Given the description of an element on the screen output the (x, y) to click on. 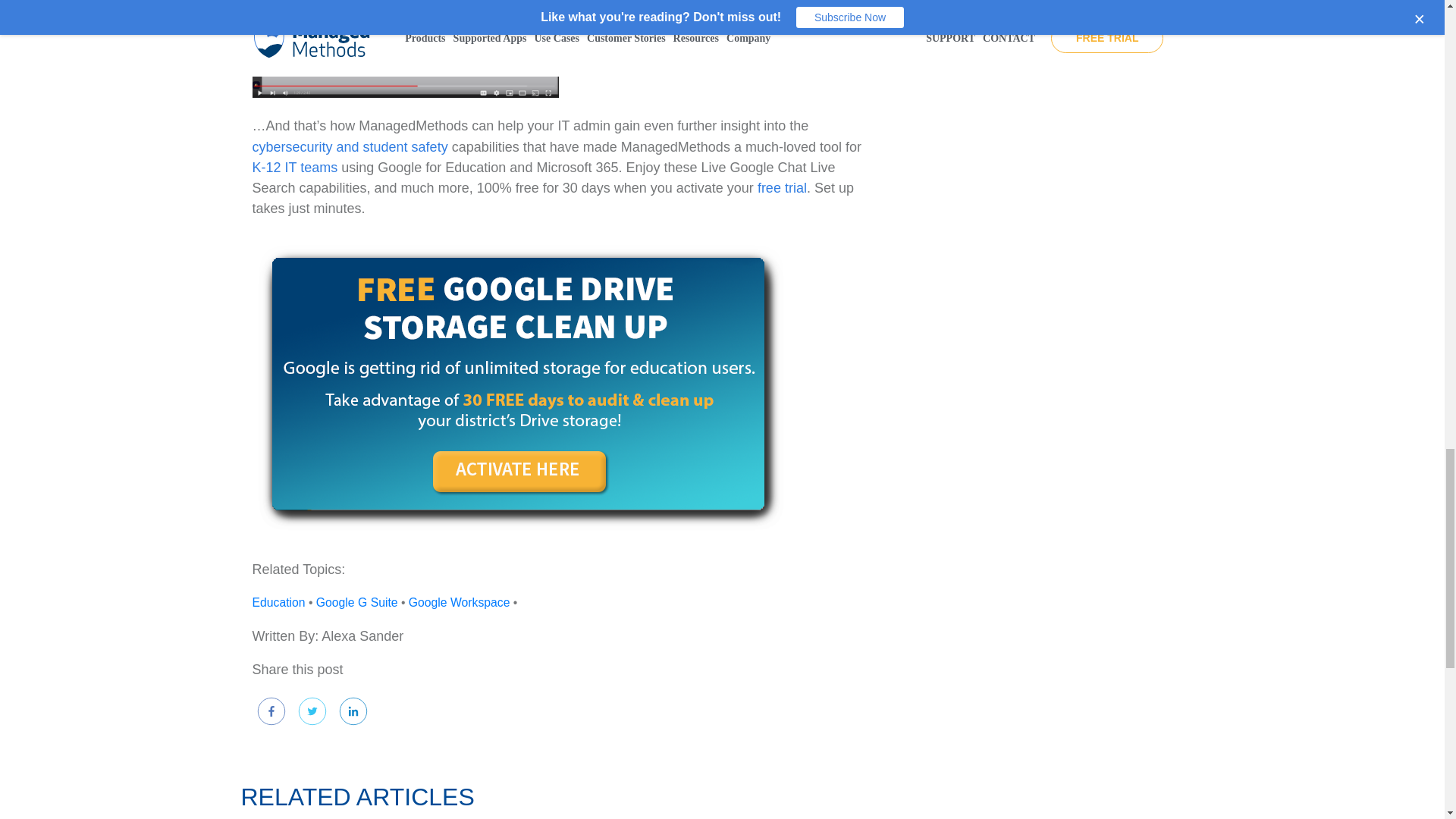
Twitter (312, 710)
Facebook (270, 710)
Education (277, 602)
Google Workspace (460, 602)
LinkedIn (353, 710)
Google G Suite (356, 602)
